Given the description of an element on the screen output the (x, y) to click on. 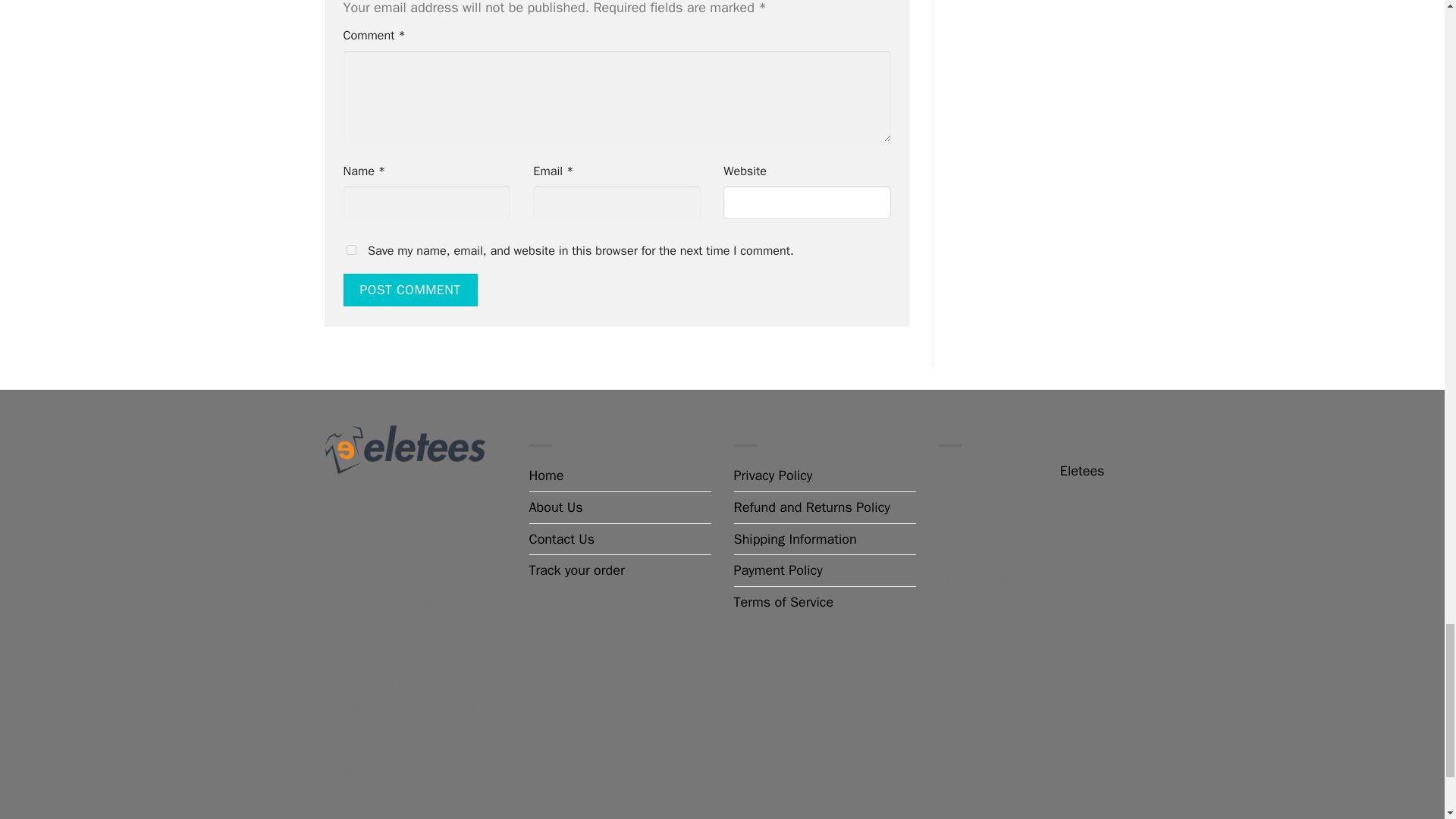
Post Comment (409, 290)
yes (350, 249)
eletees 12 (404, 453)
